Given the description of an element on the screen output the (x, y) to click on. 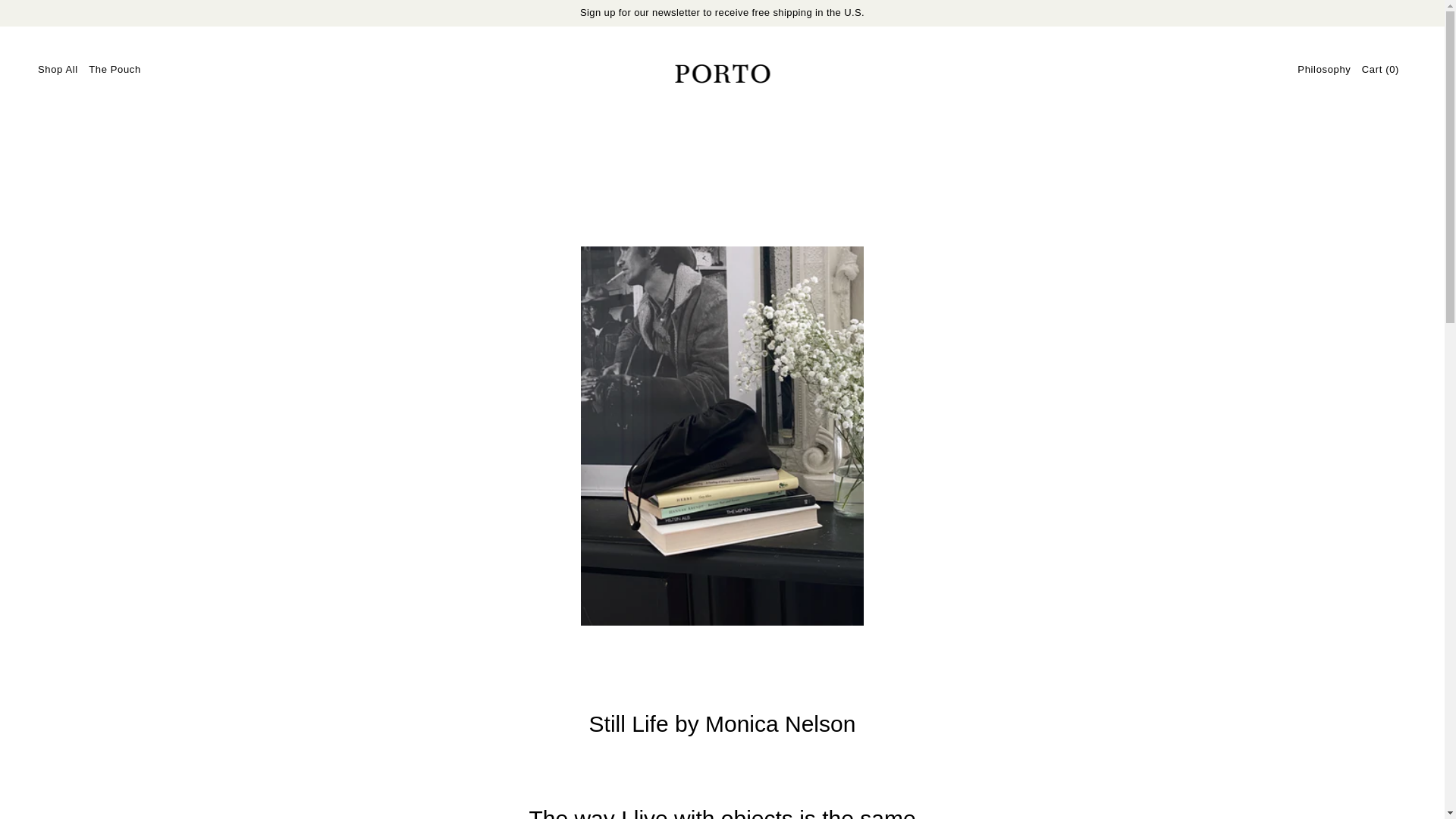
Shop All (57, 69)
The Pouch (114, 69)
Philosophy (1324, 69)
